Given the description of an element on the screen output the (x, y) to click on. 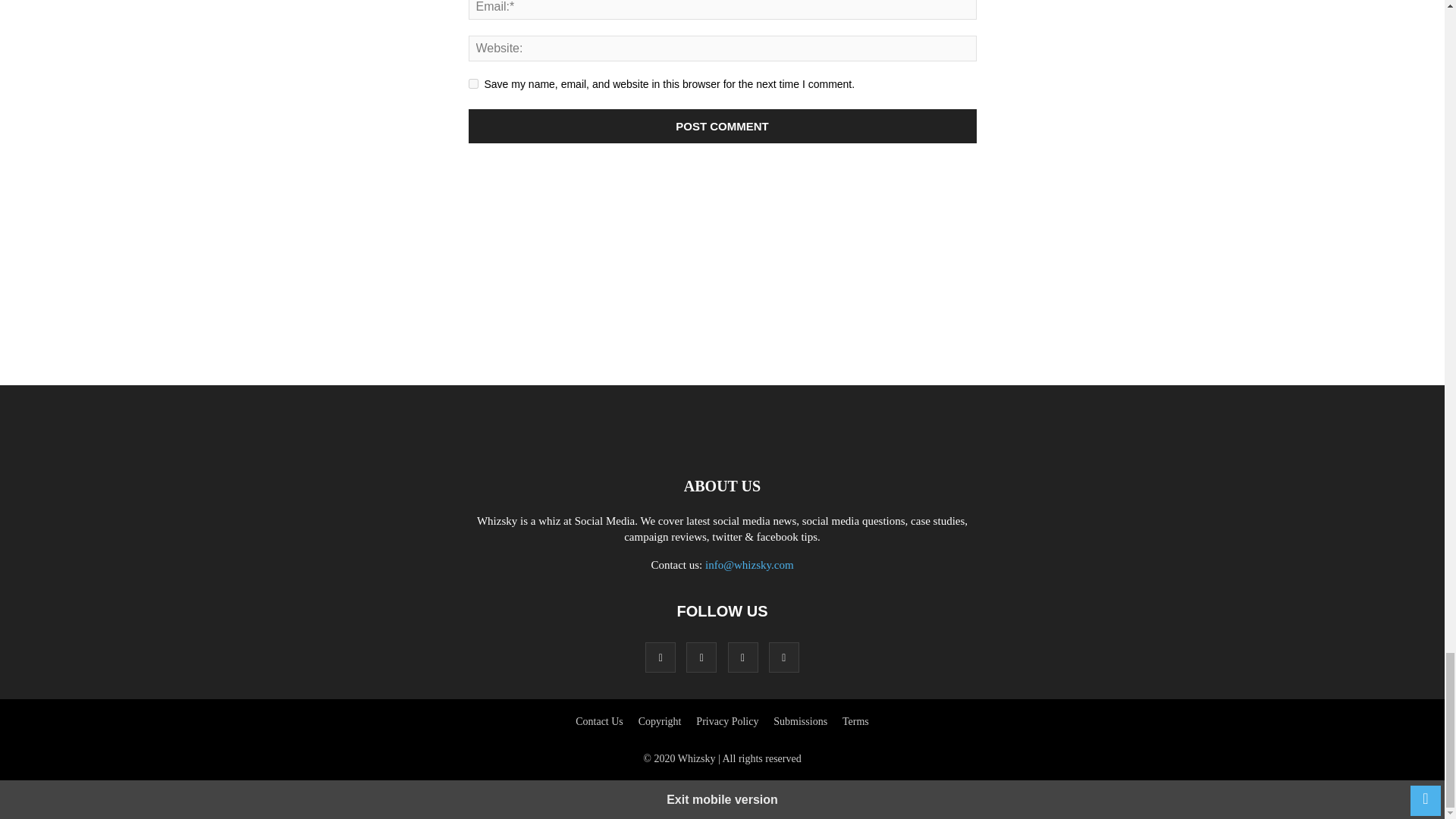
yes (473, 83)
Post Comment (722, 125)
Post Comment (722, 125)
